Given the description of an element on the screen output the (x, y) to click on. 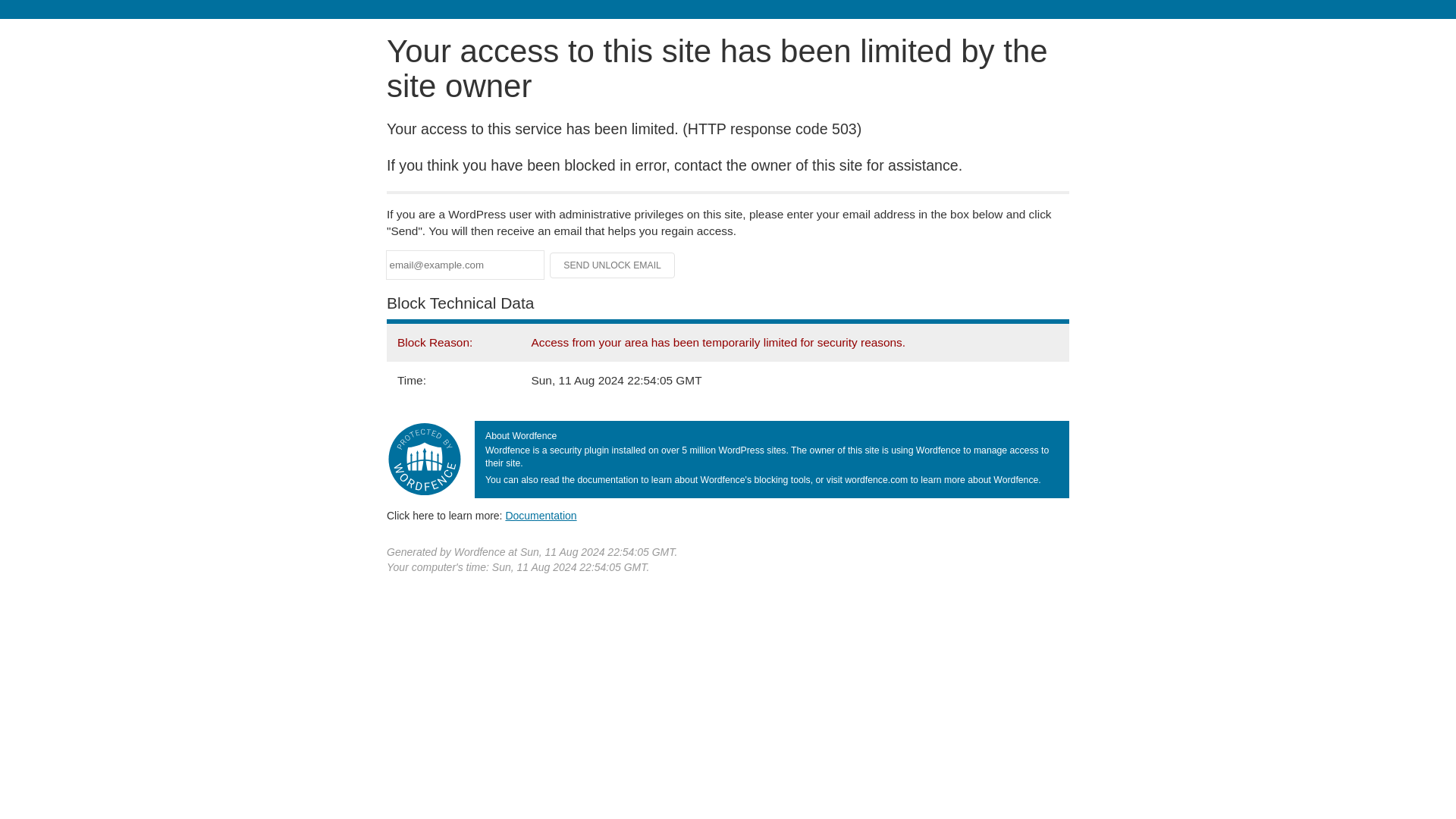
Documentation (540, 515)
Send Unlock Email (612, 265)
Send Unlock Email (612, 265)
